Given the description of an element on the screen output the (x, y) to click on. 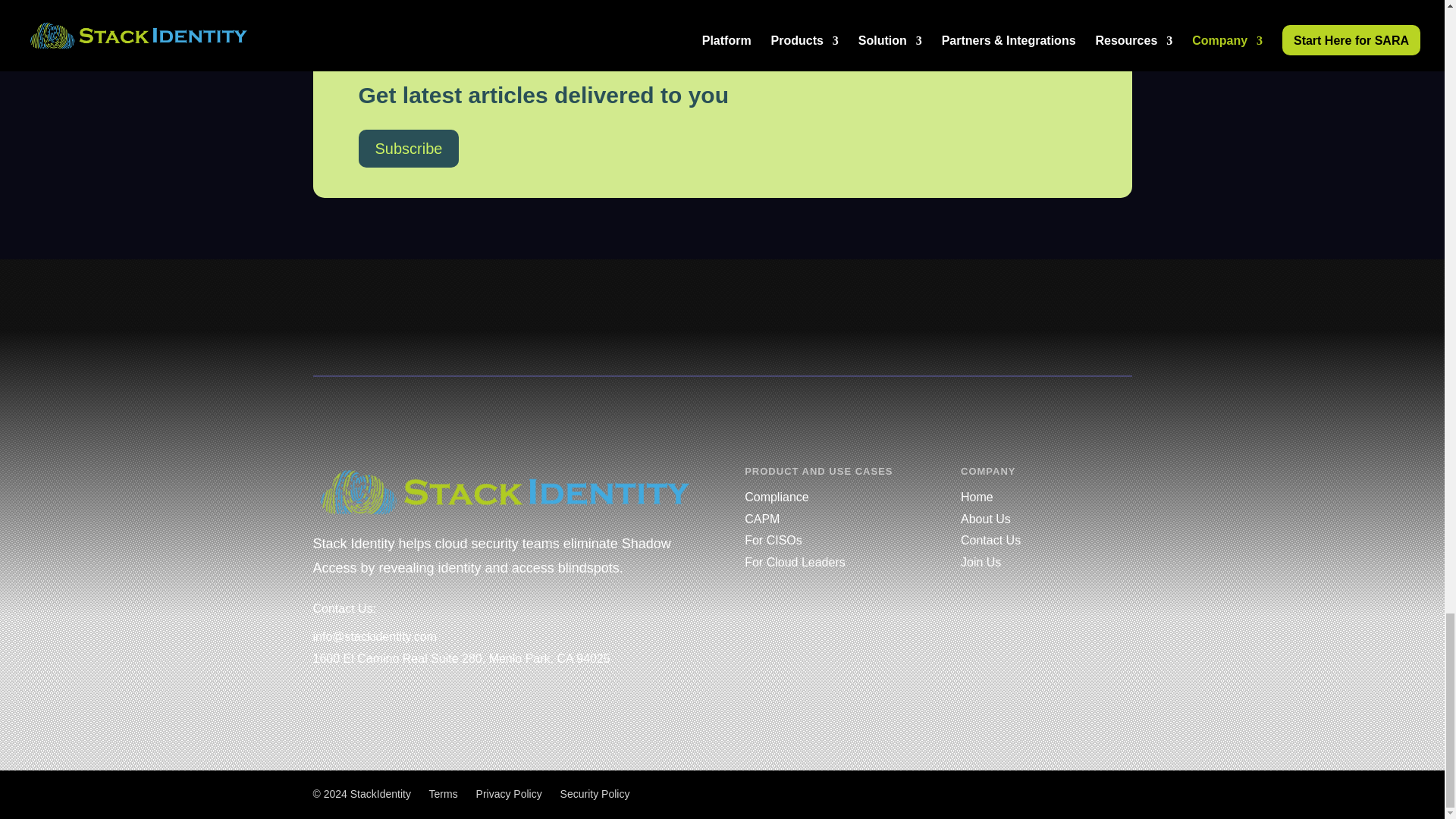
StackIdentity (380, 793)
Stack Identity (505, 491)
CAPM (761, 518)
Subscribe (408, 148)
Home (976, 496)
Security Policy (595, 793)
Contact Us (990, 540)
Compliance (776, 496)
Join Us (980, 562)
For Cloud Leaders (794, 562)
